Given the description of an element on the screen output the (x, y) to click on. 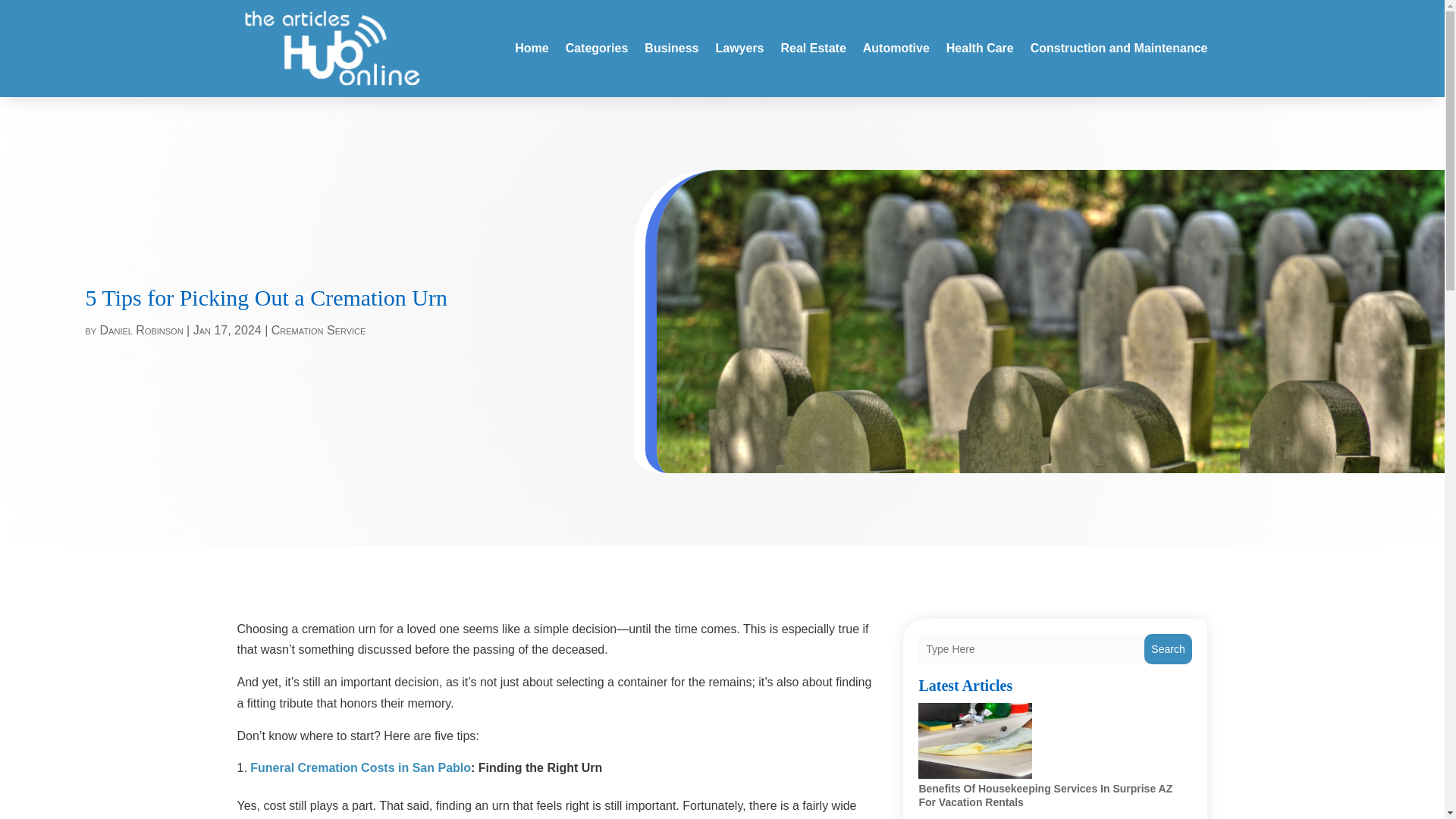
Construction and Maintenance (1119, 48)
Posts by Daniel Robinson (141, 329)
Daniel Robinson (141, 329)
Funeral Cremation Costs in San Pablo (360, 767)
Cremation Service (318, 329)
Search (1168, 648)
